Given the description of an element on the screen output the (x, y) to click on. 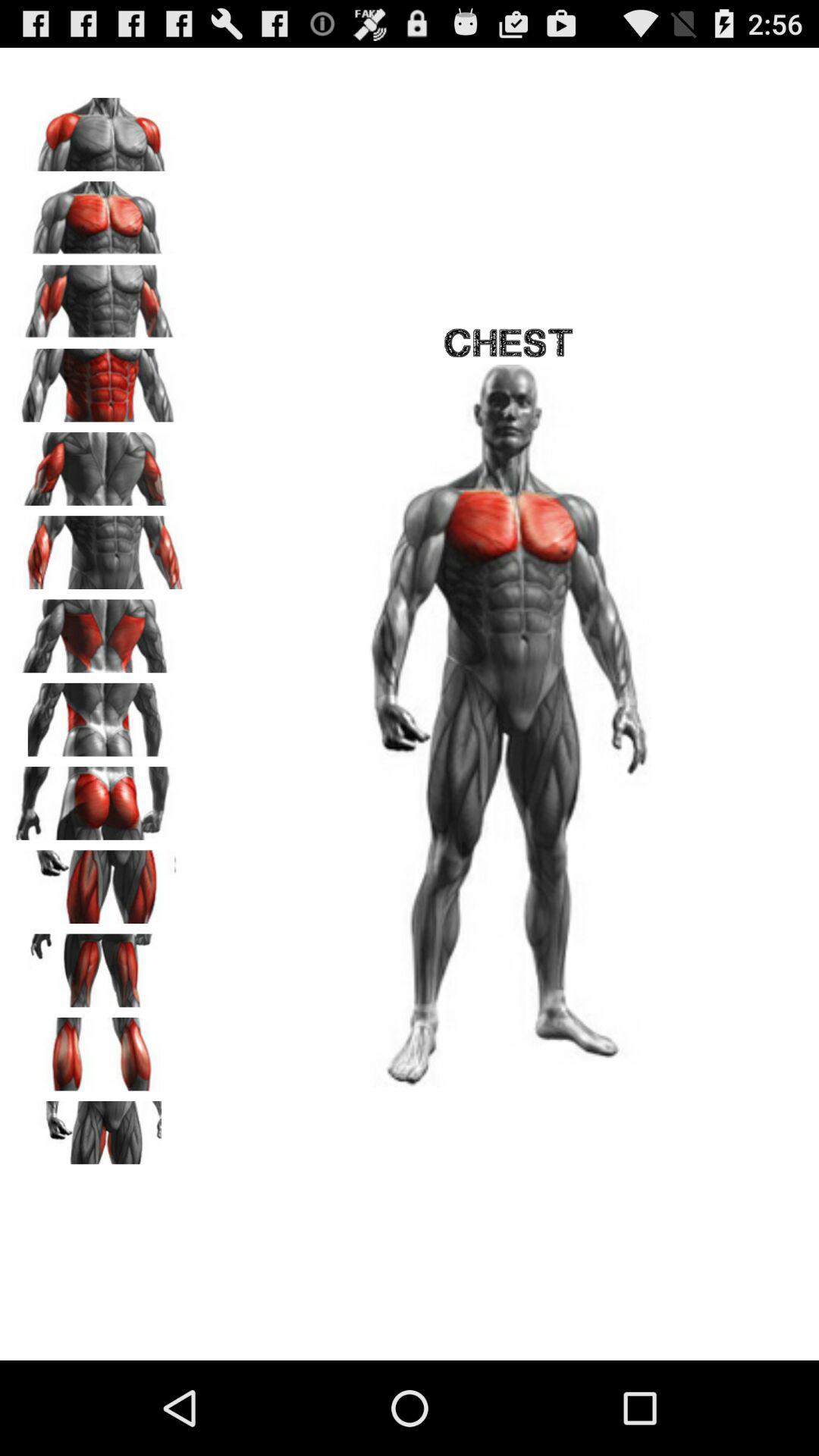
go to back (99, 463)
